Given the description of an element on the screen output the (x, y) to click on. 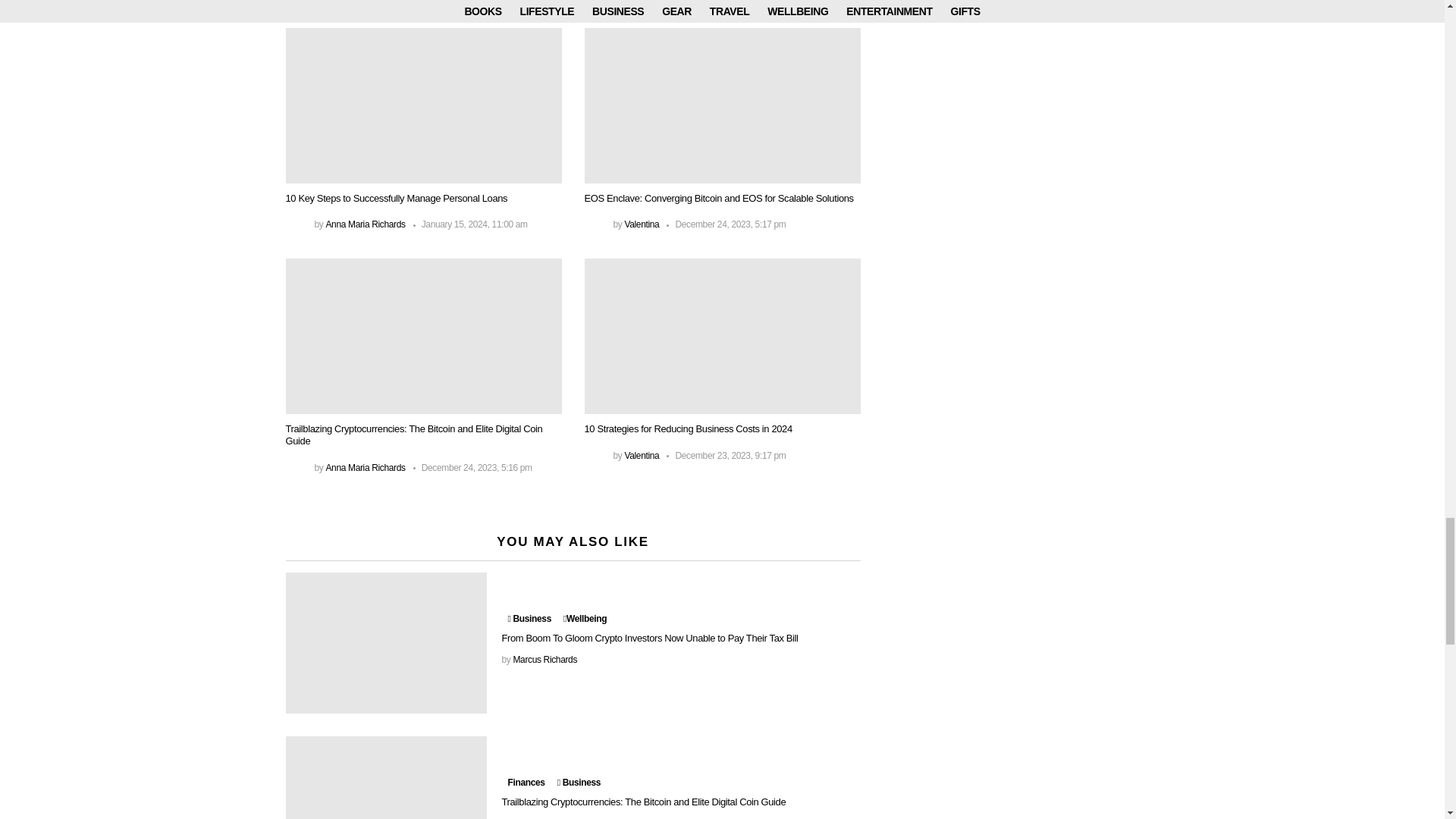
10 Strategies for Reducing Business Costs in 2024 (721, 336)
Posts by Anna Maria Richards (364, 224)
Posts by Anna Maria Richards (364, 467)
Posts by Valentina (641, 224)
10 Key Steps to Successfully Manage Personal Loans (422, 105)
Posts by Valentina (641, 455)
Posts by Marcus Richards (544, 659)
